Given the description of an element on the screen output the (x, y) to click on. 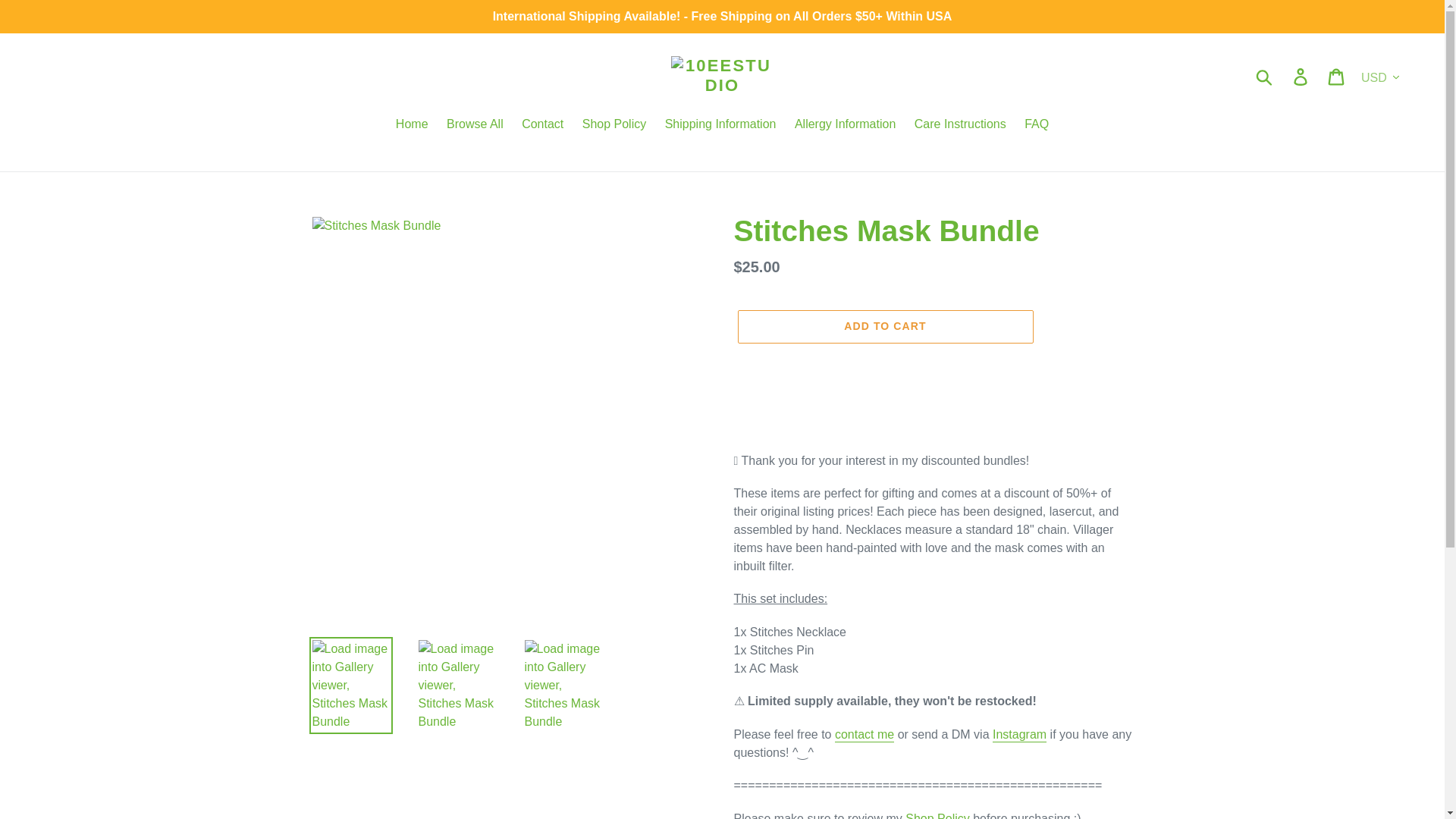
FAQ (1036, 125)
Instagram (1019, 735)
Submit (1265, 75)
ADD TO CART (884, 326)
contact me (863, 735)
Home (411, 125)
Shipping Information (721, 125)
Shop Policy (937, 815)
Care Instructions (960, 125)
Log in (1301, 75)
